Given the description of an element on the screen output the (x, y) to click on. 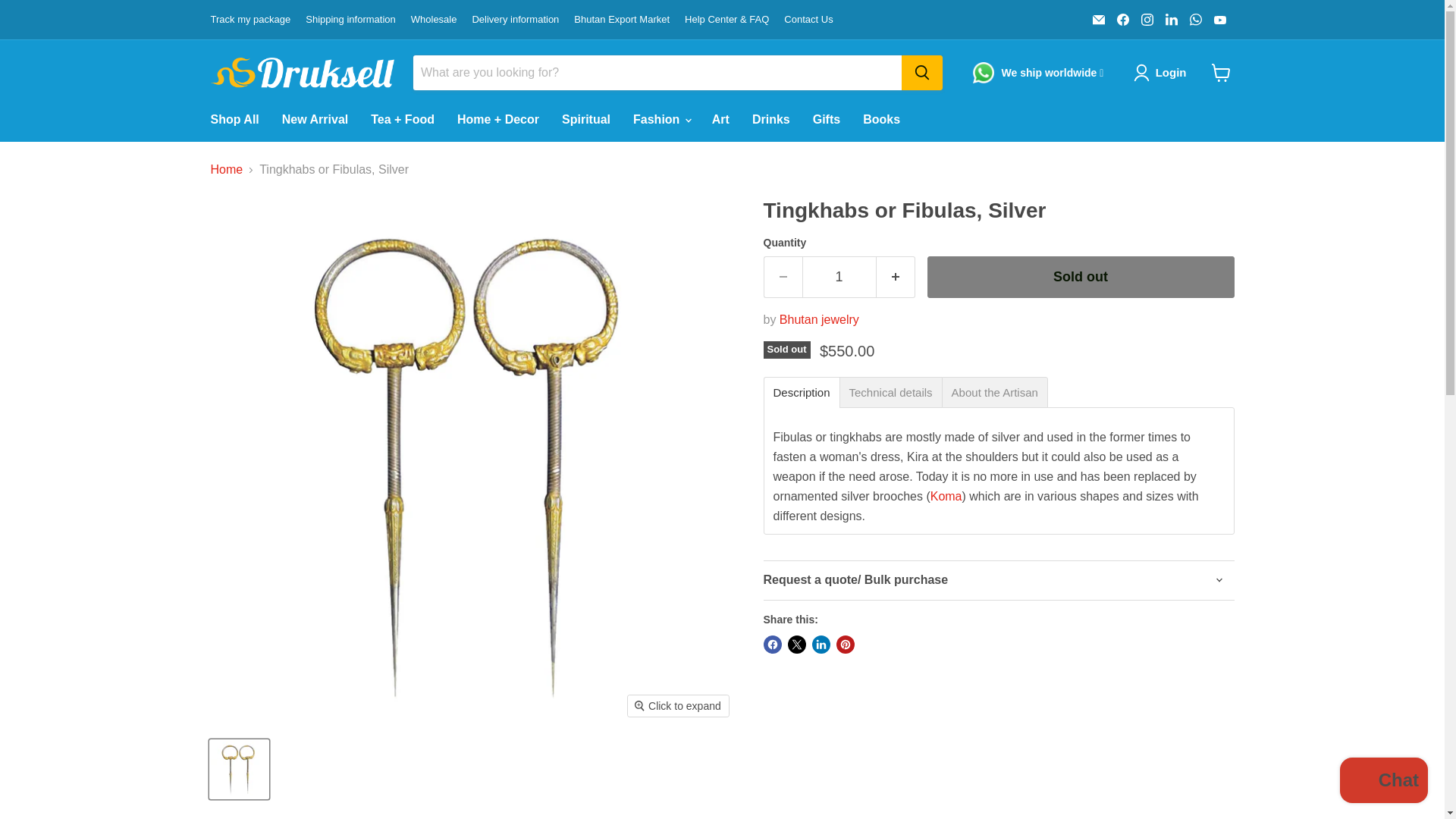
Facebook (1123, 19)
Find us on Instagram (1147, 19)
Delivery information (515, 19)
Bhutan koma (946, 495)
Track my package (251, 19)
Email (1098, 19)
Email Druksell.com (1098, 19)
View cart (1221, 72)
Contact Us (808, 19)
Find us on LinkedIn (1171, 19)
